Given the description of an element on the screen output the (x, y) to click on. 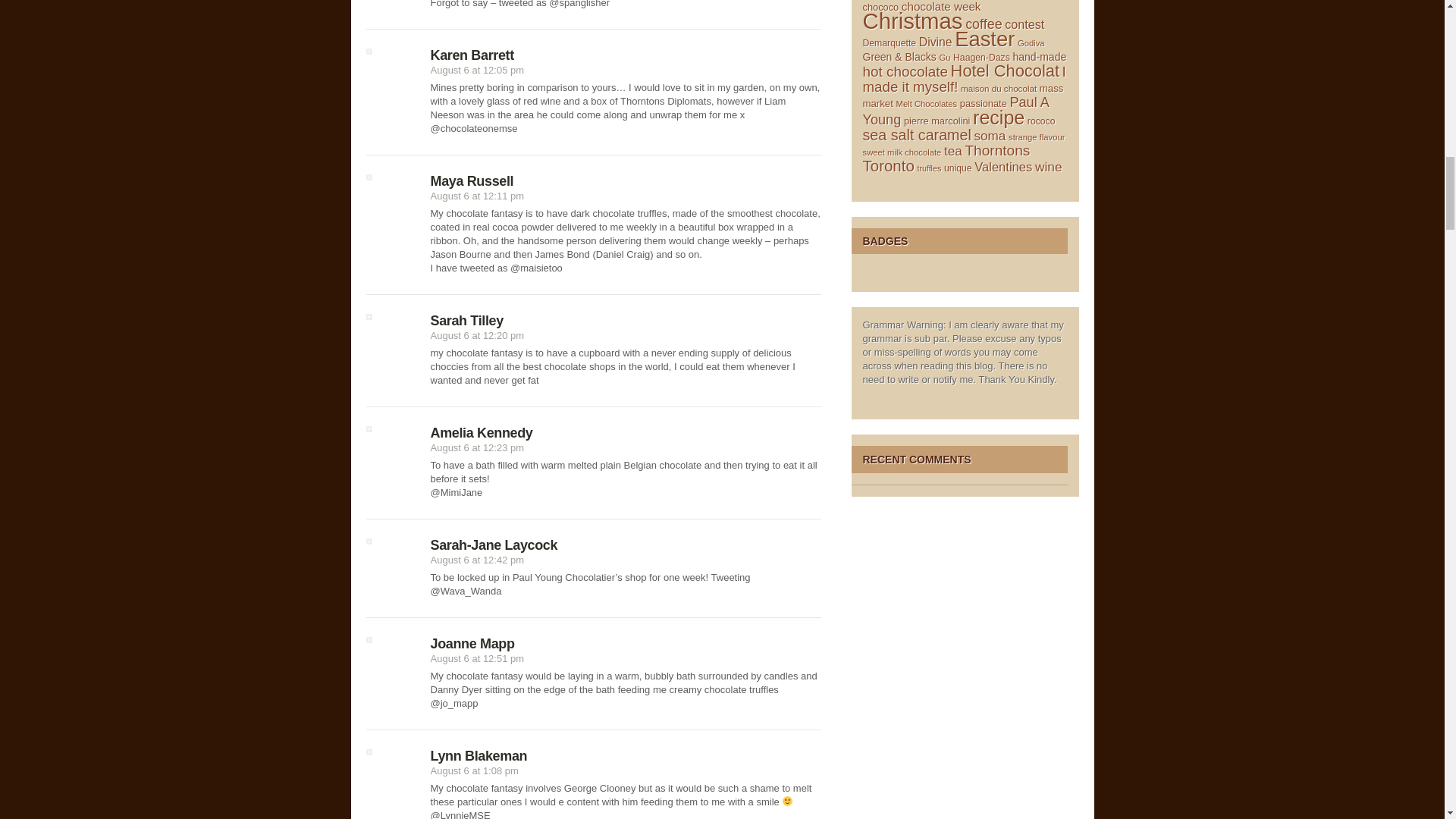
August 6 at 12:05 pm (477, 70)
August 6 at 1:08 pm (474, 770)
August 6 at 12:11 pm (477, 195)
August 6 at 12:51 pm (477, 658)
August 6 at 12:20 pm (477, 335)
August 6 at 12:23 pm (477, 447)
August 6 at 12:42 pm (477, 559)
